Given the description of an element on the screen output the (x, y) to click on. 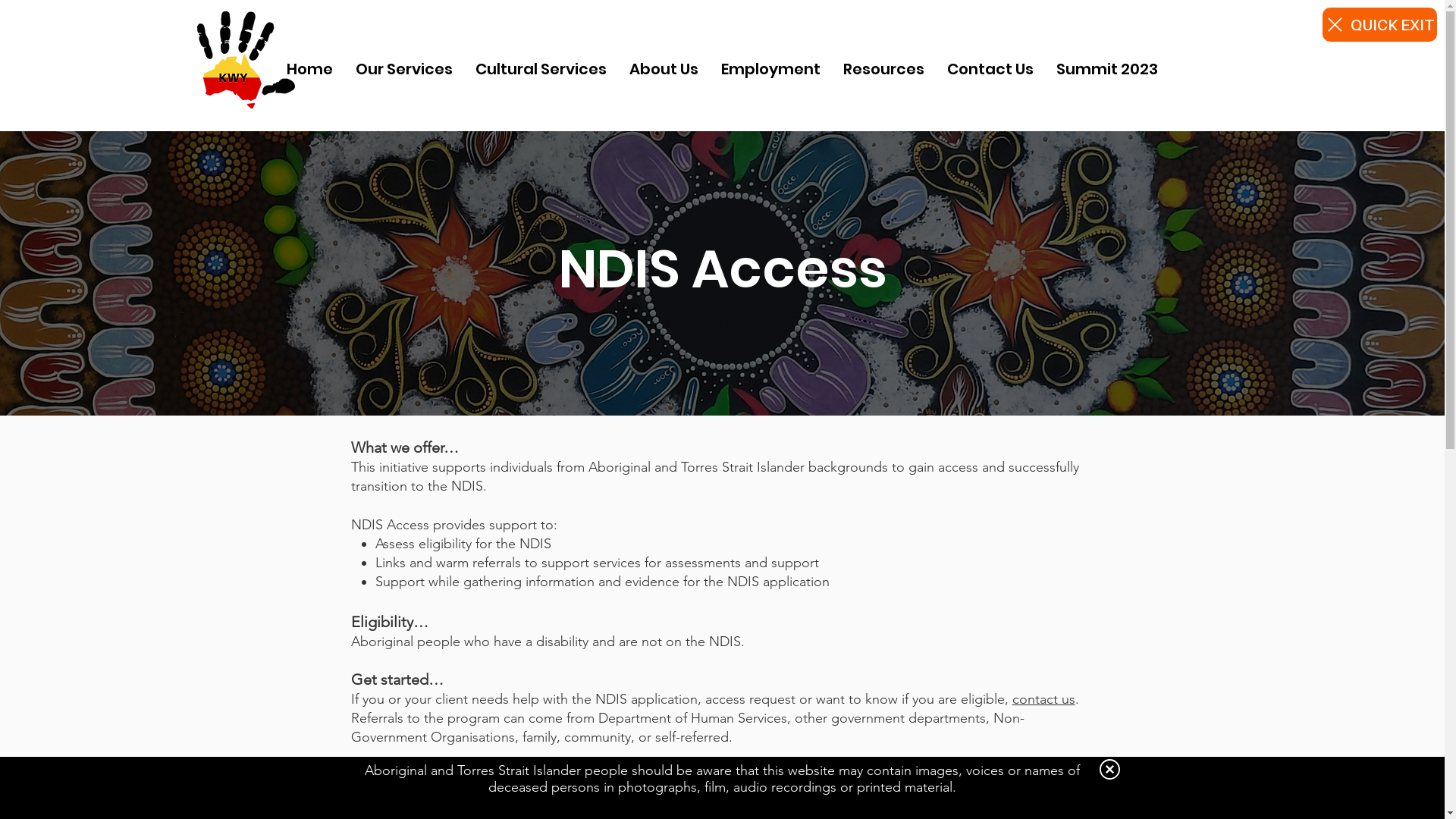
QUICK EXIT Element type: text (1379, 24)
Back to site Element type: hover (1109, 769)
Home Element type: text (309, 69)
contact us Element type: text (1042, 698)
Employment Element type: text (770, 69)
Contact Us Element type: text (989, 69)
About Us Element type: text (663, 69)
Our Services Element type: text (404, 69)
Cultural Services Element type: text (541, 69)
Resources Element type: text (883, 69)
Summit 2023 Element type: text (1106, 69)
